Given the description of an element on the screen output the (x, y) to click on. 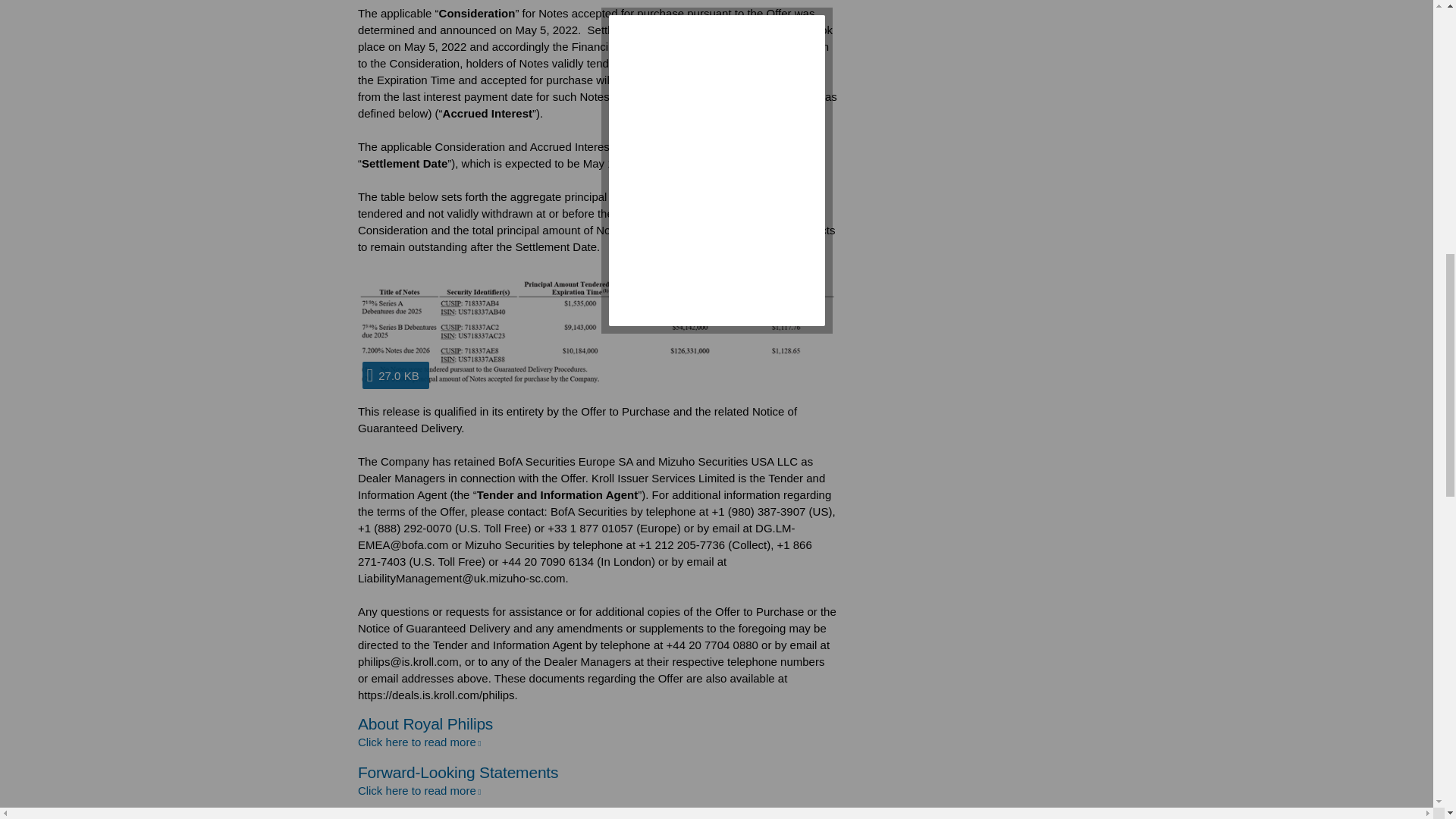
Click here to read more (419, 789)
Click here to read more (419, 741)
27.0 KB (598, 329)
